Given the description of an element on the screen output the (x, y) to click on. 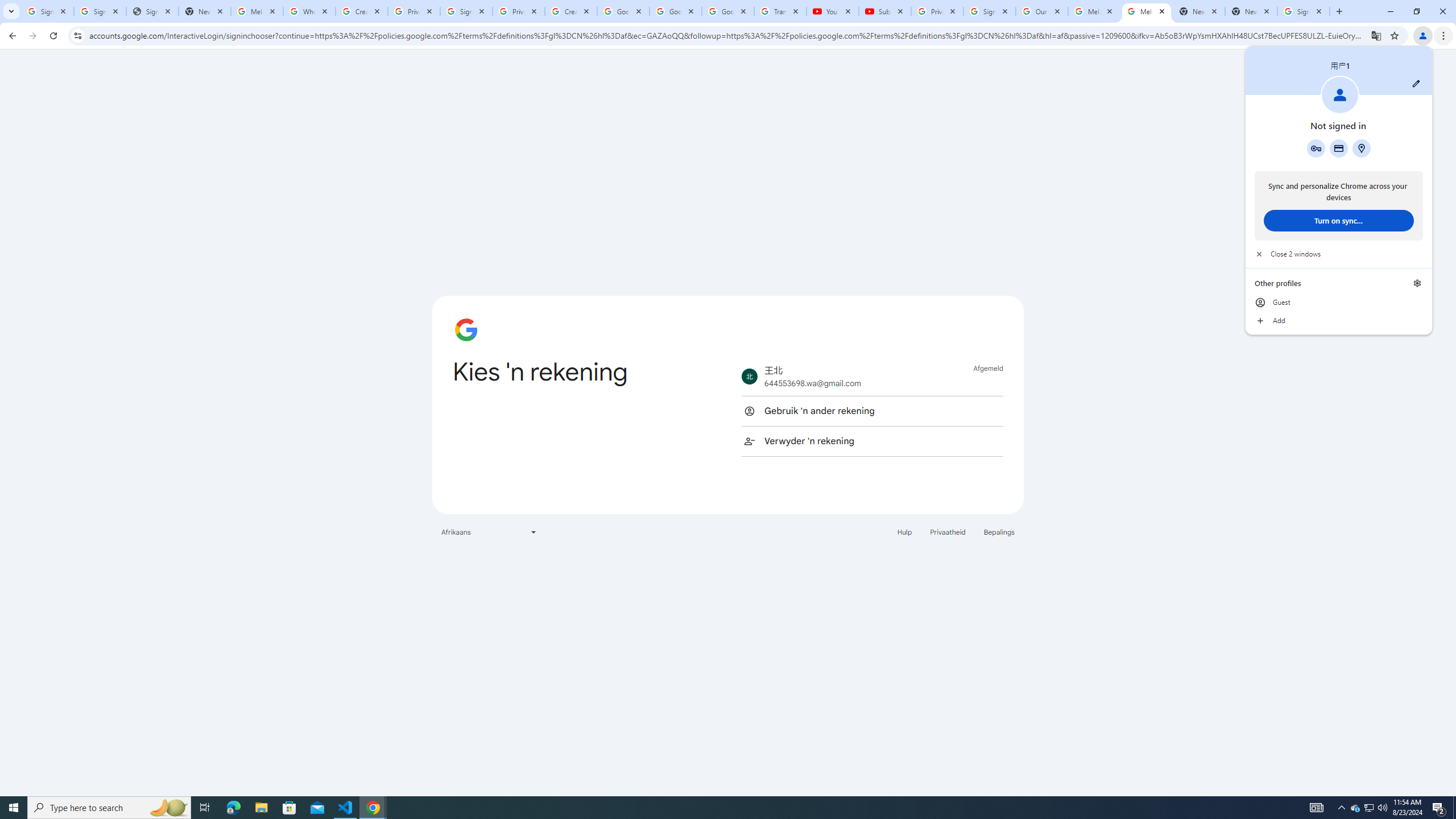
Action Center, 2 new notifications (1439, 807)
Sign in - Google Accounts (466, 11)
Customize profile (1415, 83)
Sign in - Google Accounts (1303, 11)
Sign in - Google Accounts (99, 11)
Bepalings (999, 531)
Google Account (727, 11)
Running applications (717, 807)
